Given the description of an element on the screen output the (x, y) to click on. 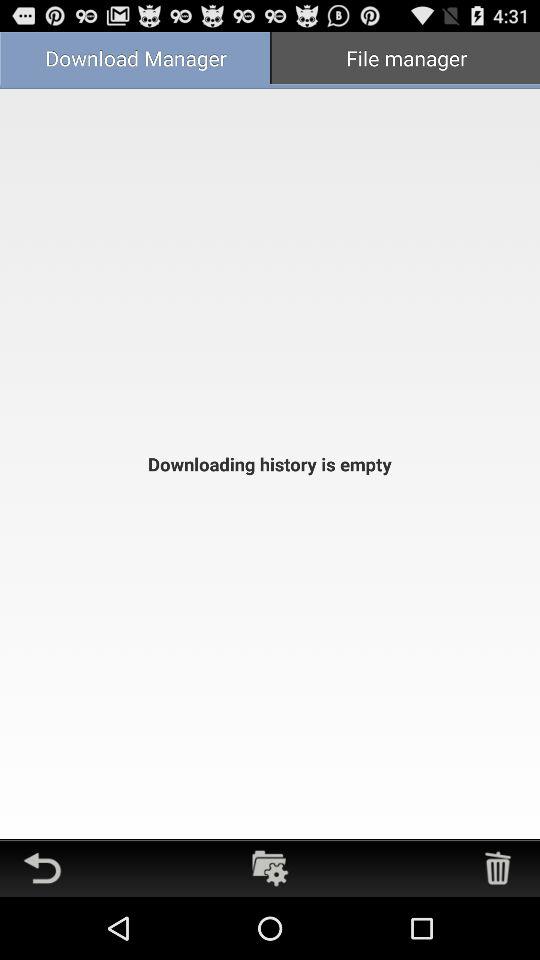
press the download manager icon (135, 60)
